Given the description of an element on the screen output the (x, y) to click on. 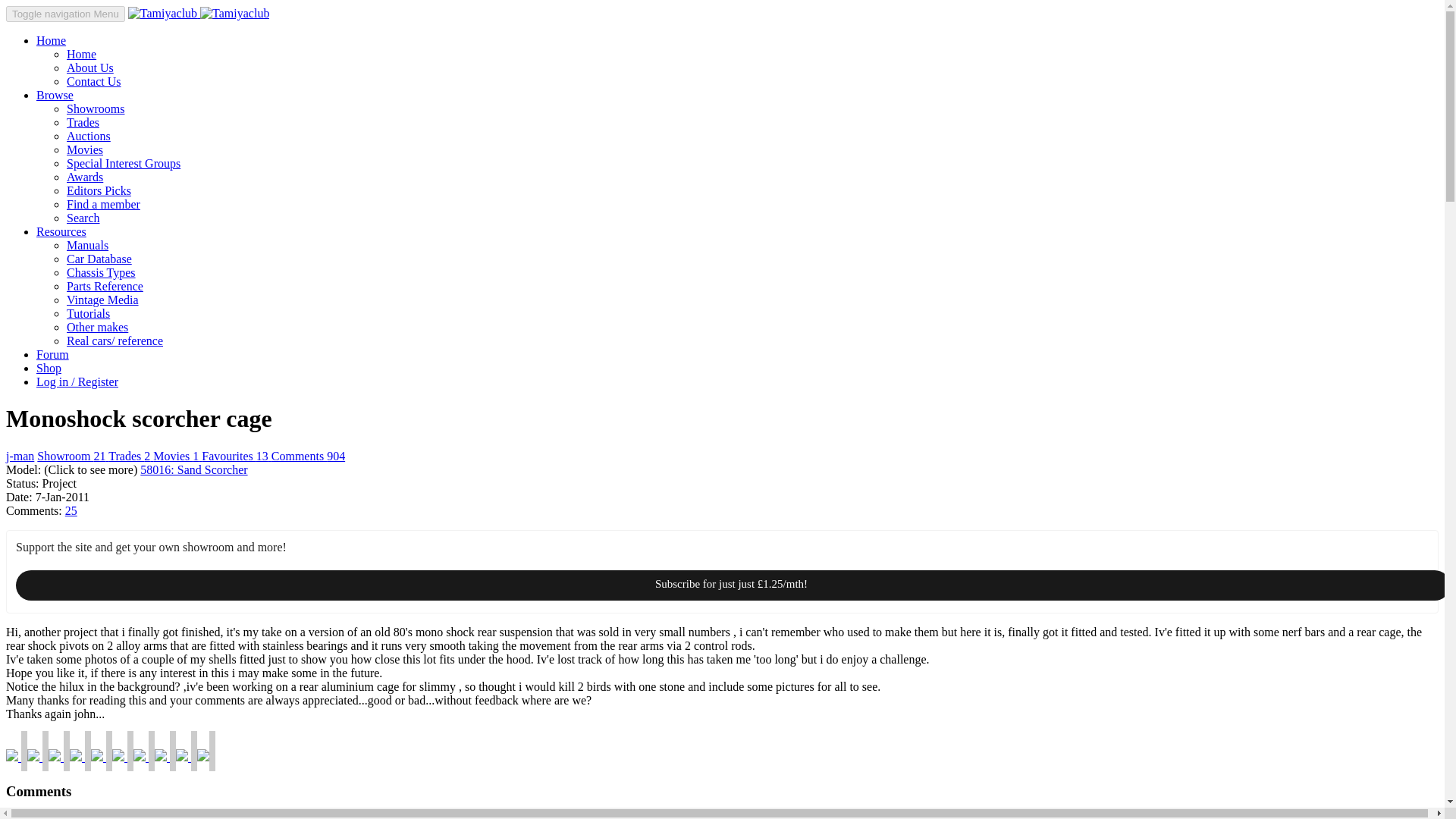
About Us (89, 67)
Trades (82, 122)
Contact Us (93, 81)
Resources (60, 231)
Trades 2 (129, 455)
Forum (52, 354)
Chassis Types (100, 272)
Search (83, 217)
Manuals (86, 245)
Home (50, 40)
Movies (84, 149)
Auctions (88, 135)
58016: Sand Scorcher (193, 469)
j-man (19, 455)
25 (71, 510)
